Given the description of an element on the screen output the (x, y) to click on. 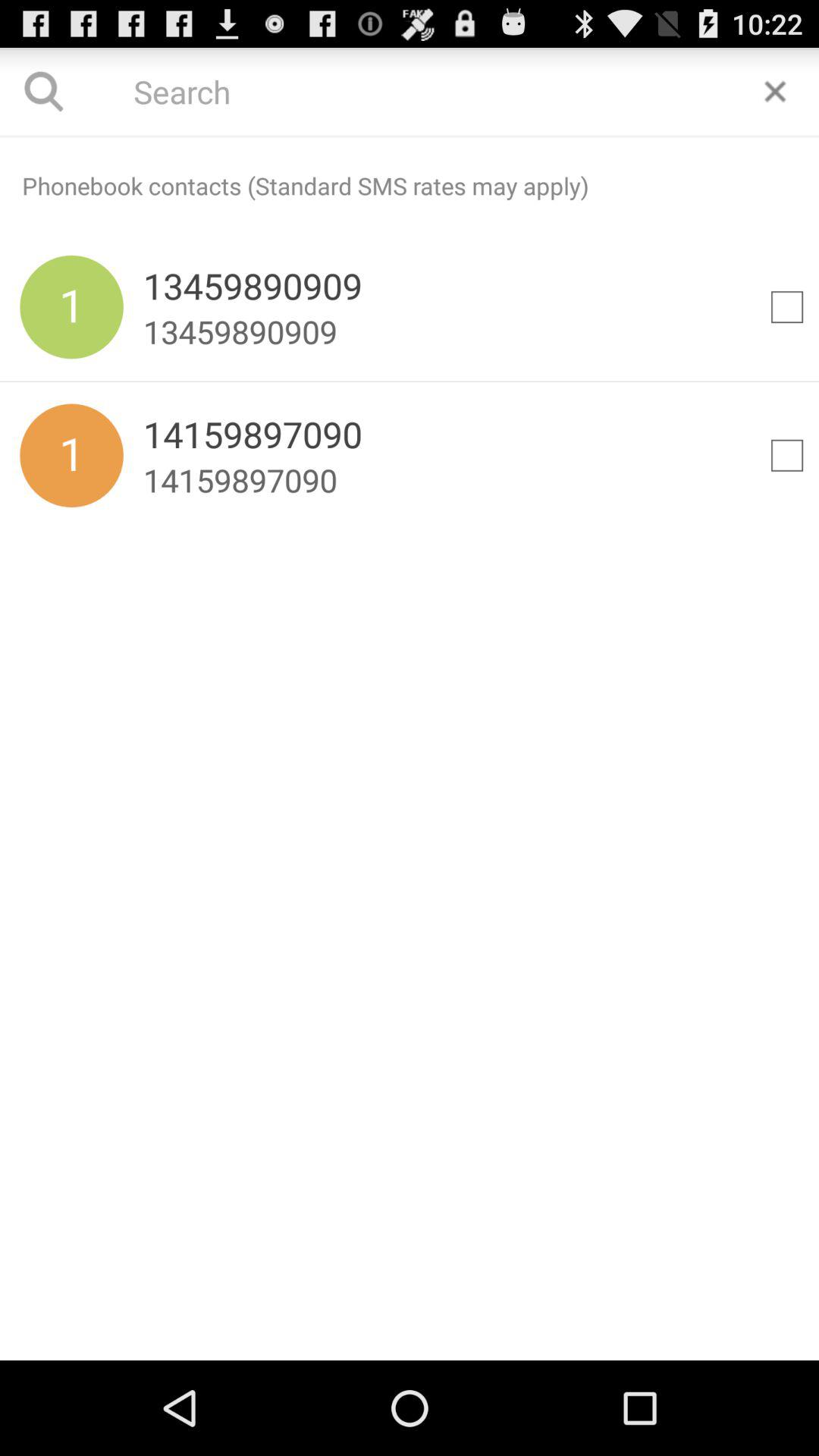
close (775, 91)
